Given the description of an element on the screen output the (x, y) to click on. 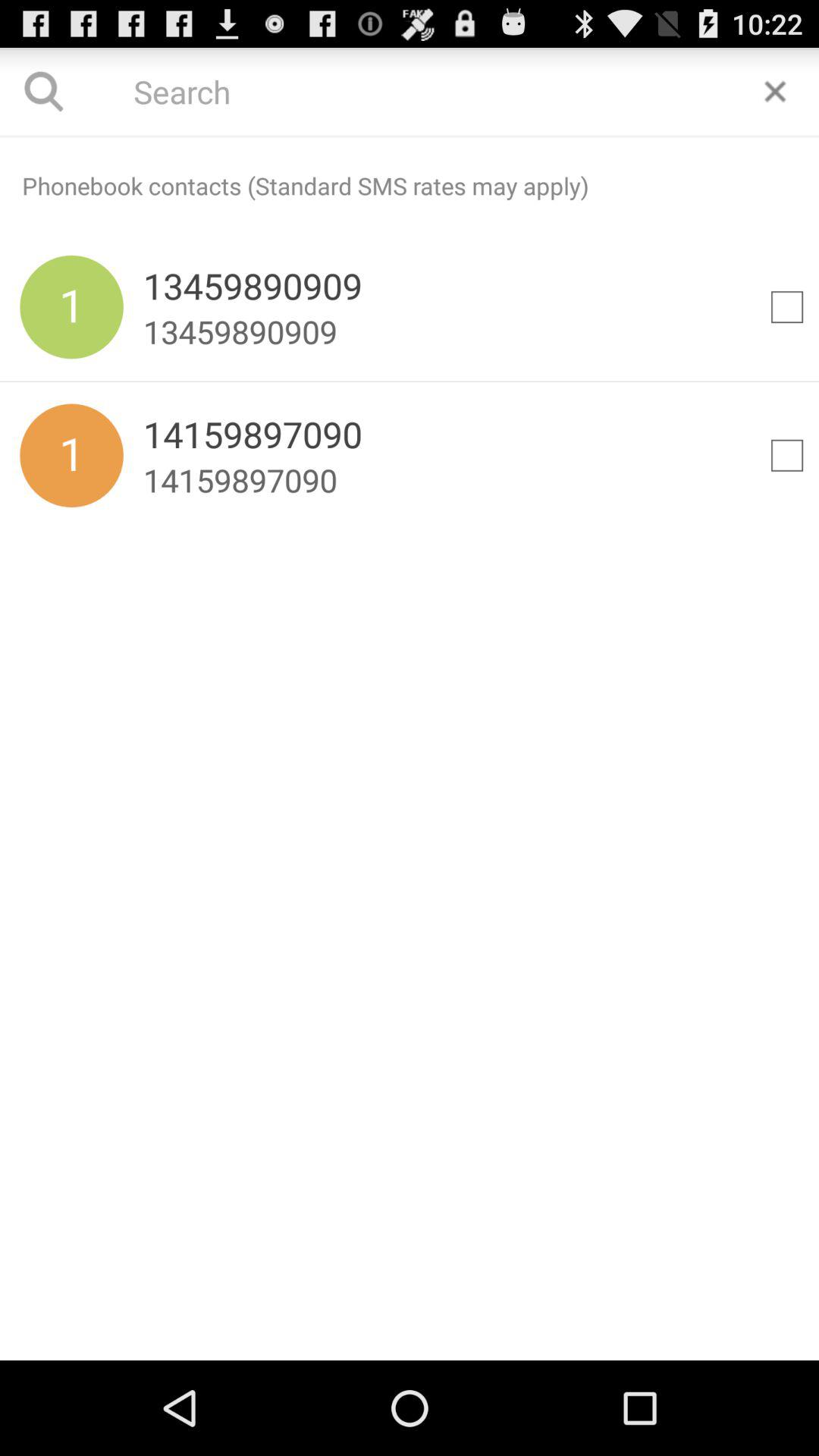
close (775, 91)
